Given the description of an element on the screen output the (x, y) to click on. 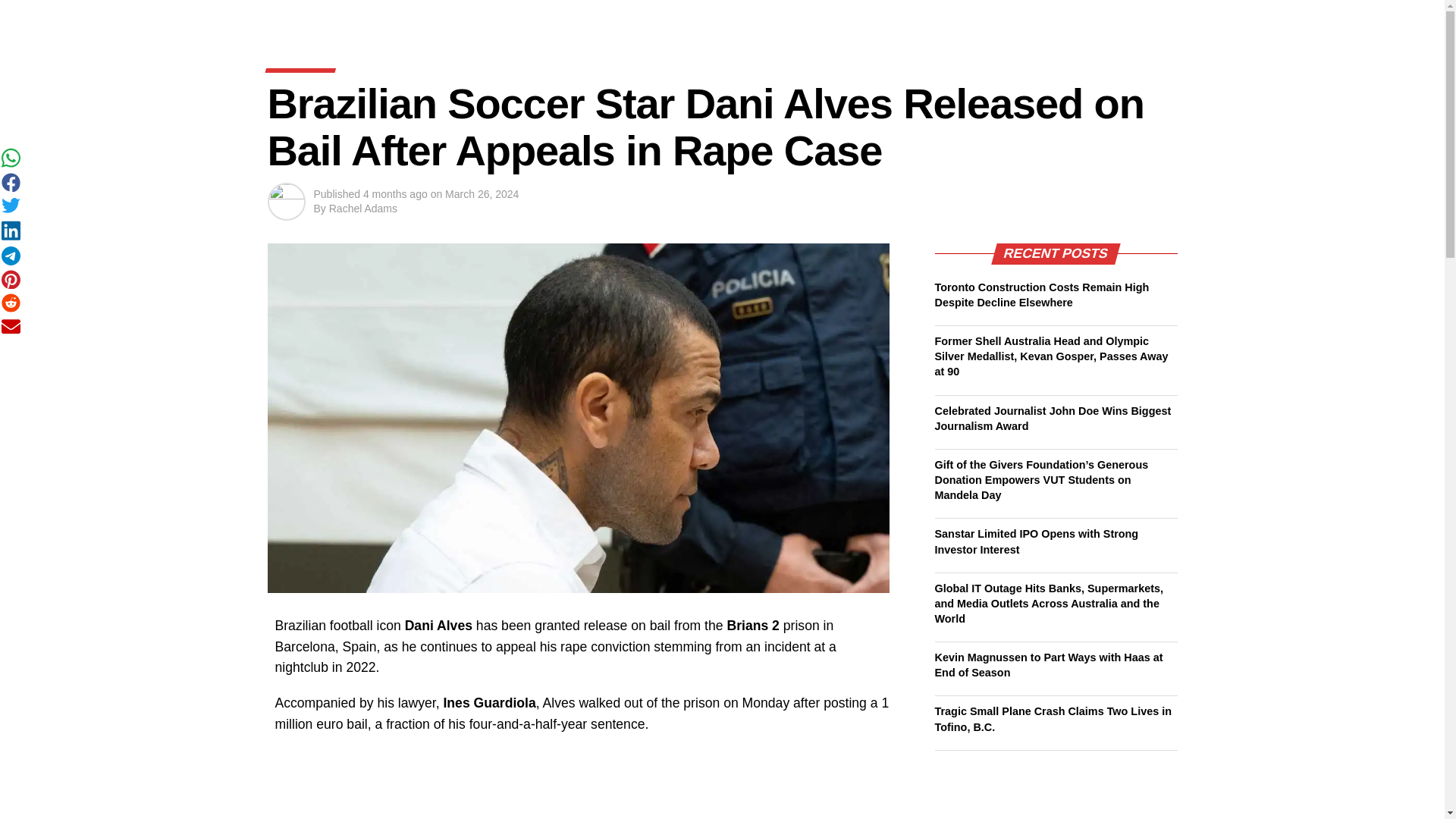
POLITICS (565, 20)
ENTERTAINMENT (720, 20)
BUSINESS (490, 20)
HEALTH (807, 20)
NEWS (422, 20)
SPORTS (632, 20)
Advertisement (582, 784)
Times News Global (342, 20)
